Given the description of an element on the screen output the (x, y) to click on. 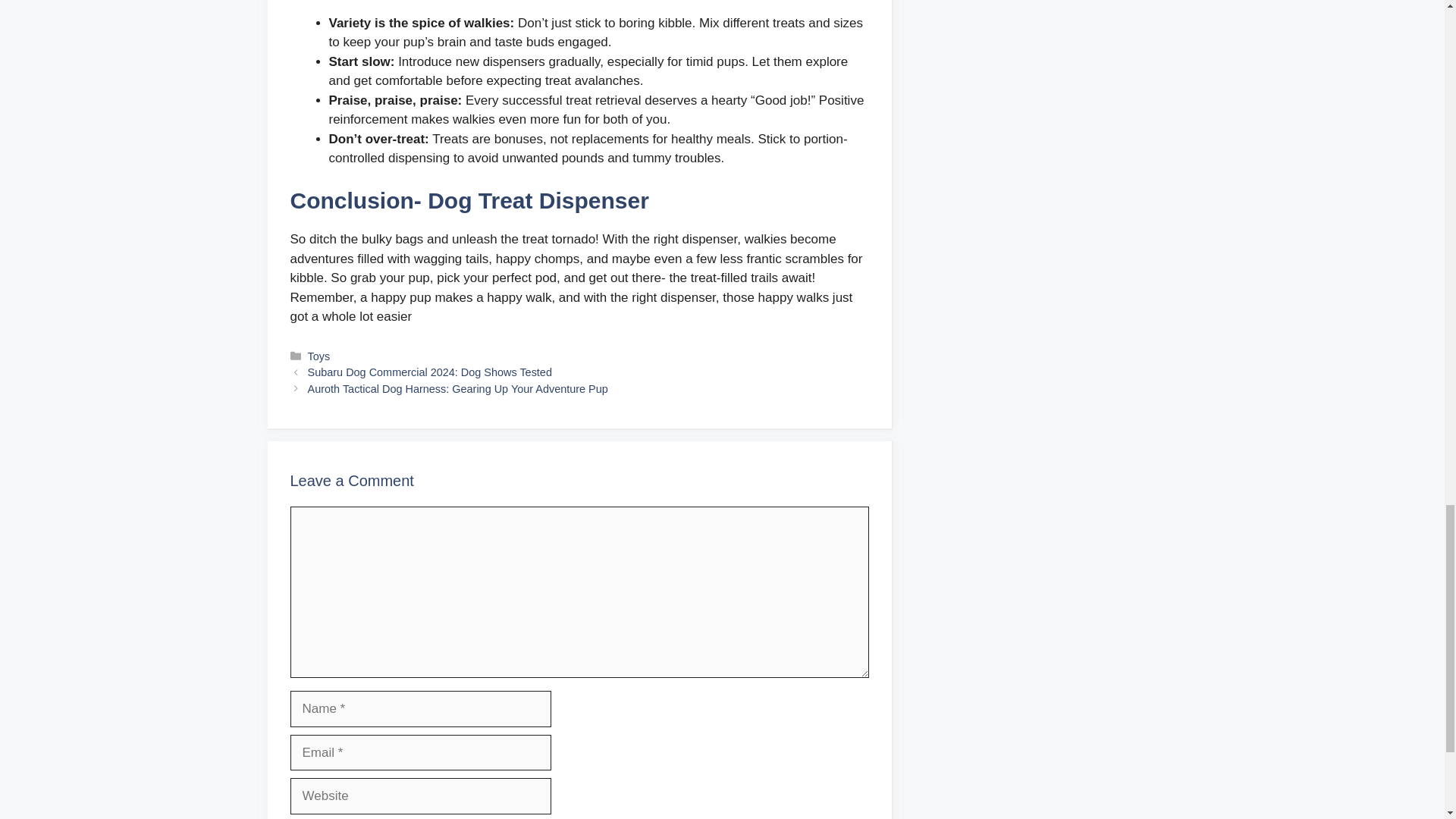
Auroth Tactical Dog Harness: Gearing Up Your Adventure Pup (457, 388)
Toys (318, 356)
Subaru Dog Commercial 2024: Dog Shows Tested (429, 372)
